Given the description of an element on the screen output the (x, y) to click on. 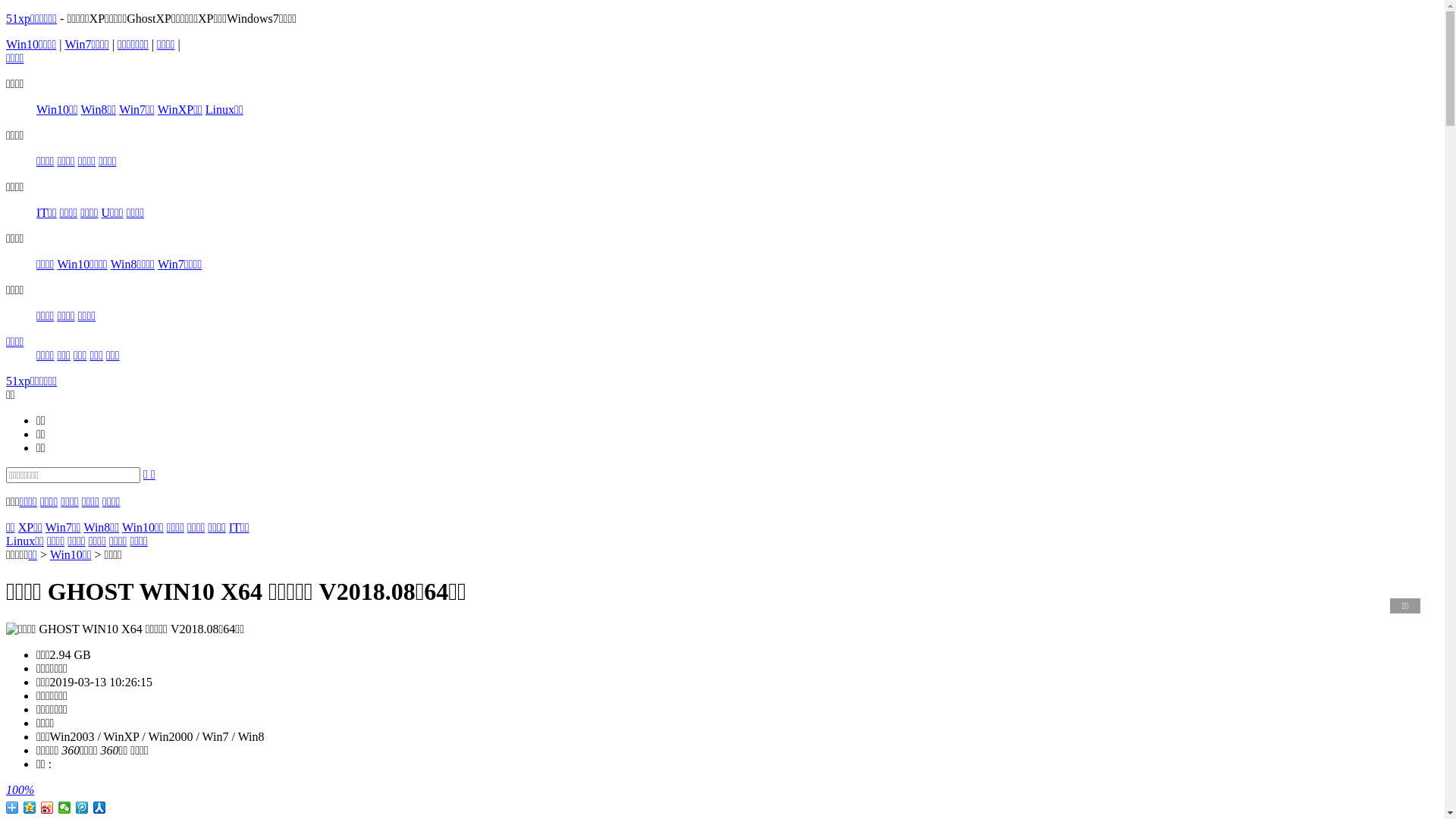
100% Element type: text (722, 790)
